Given the description of an element on the screen output the (x, y) to click on. 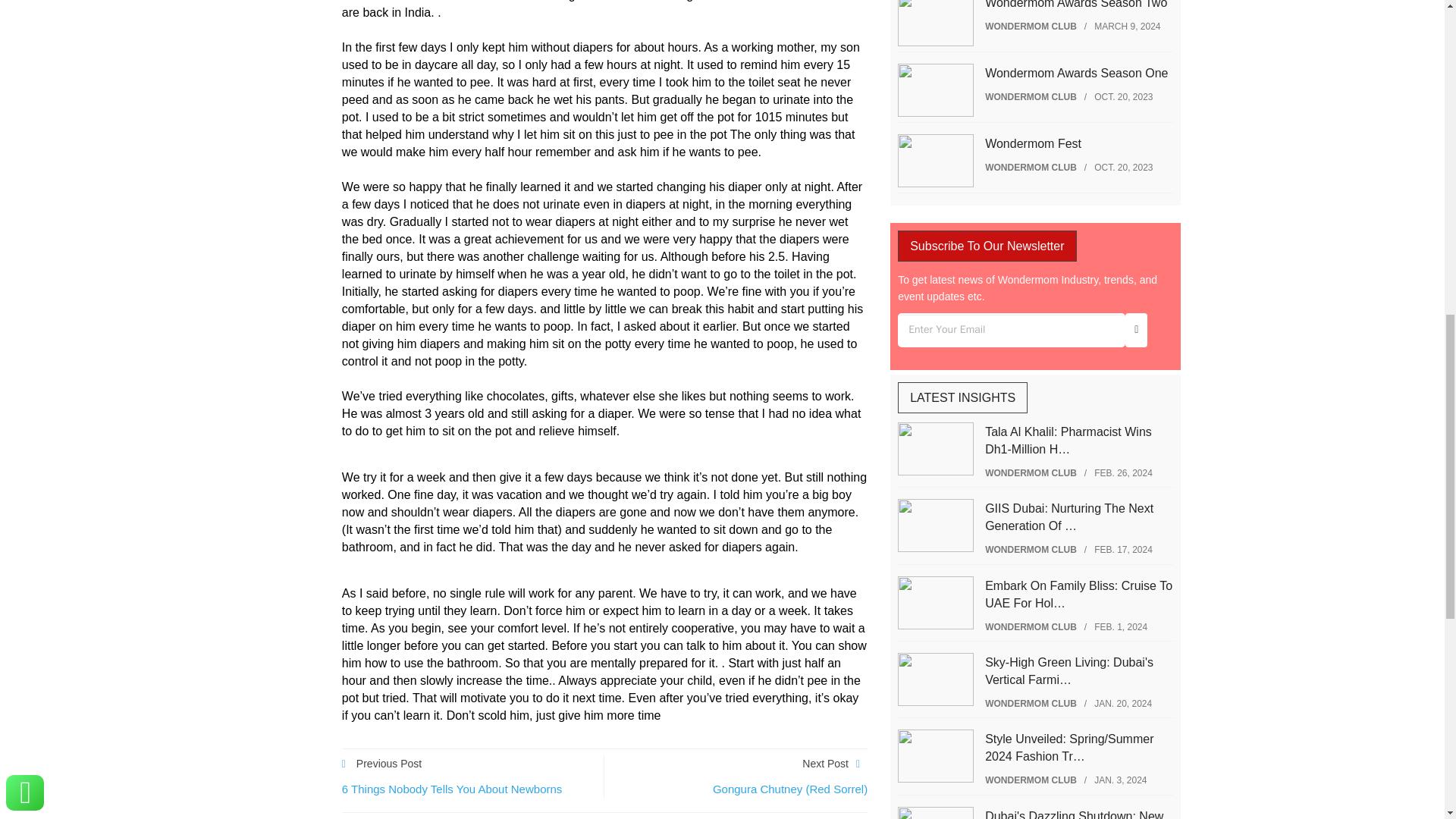
6 Things Nobody Tells You About Newborns (452, 788)
